Given the description of an element on the screen output the (x, y) to click on. 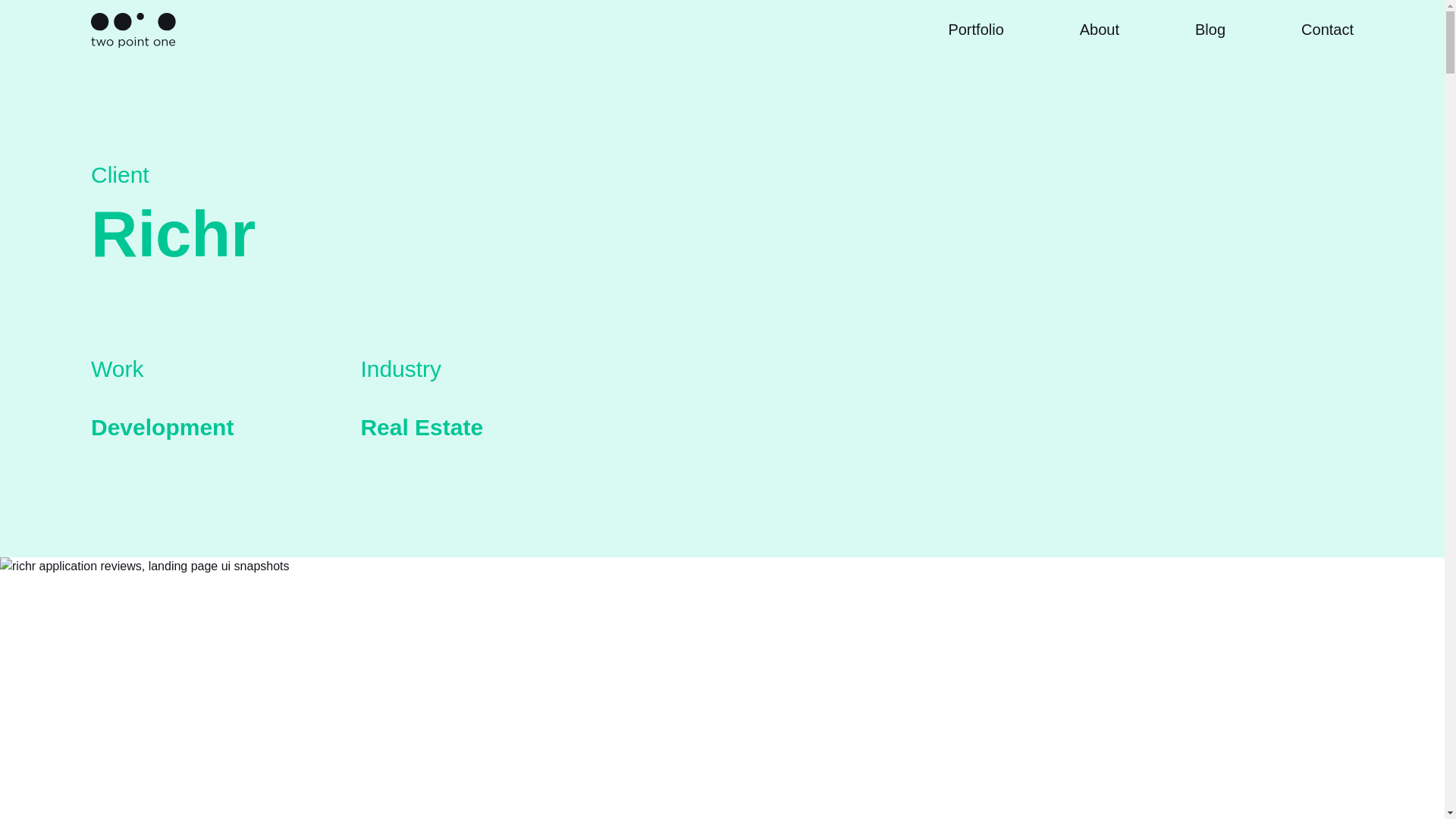
Contact (1327, 30)
Blog (1210, 30)
Portfolio (975, 30)
About (1099, 30)
